Given the description of an element on the screen output the (x, y) to click on. 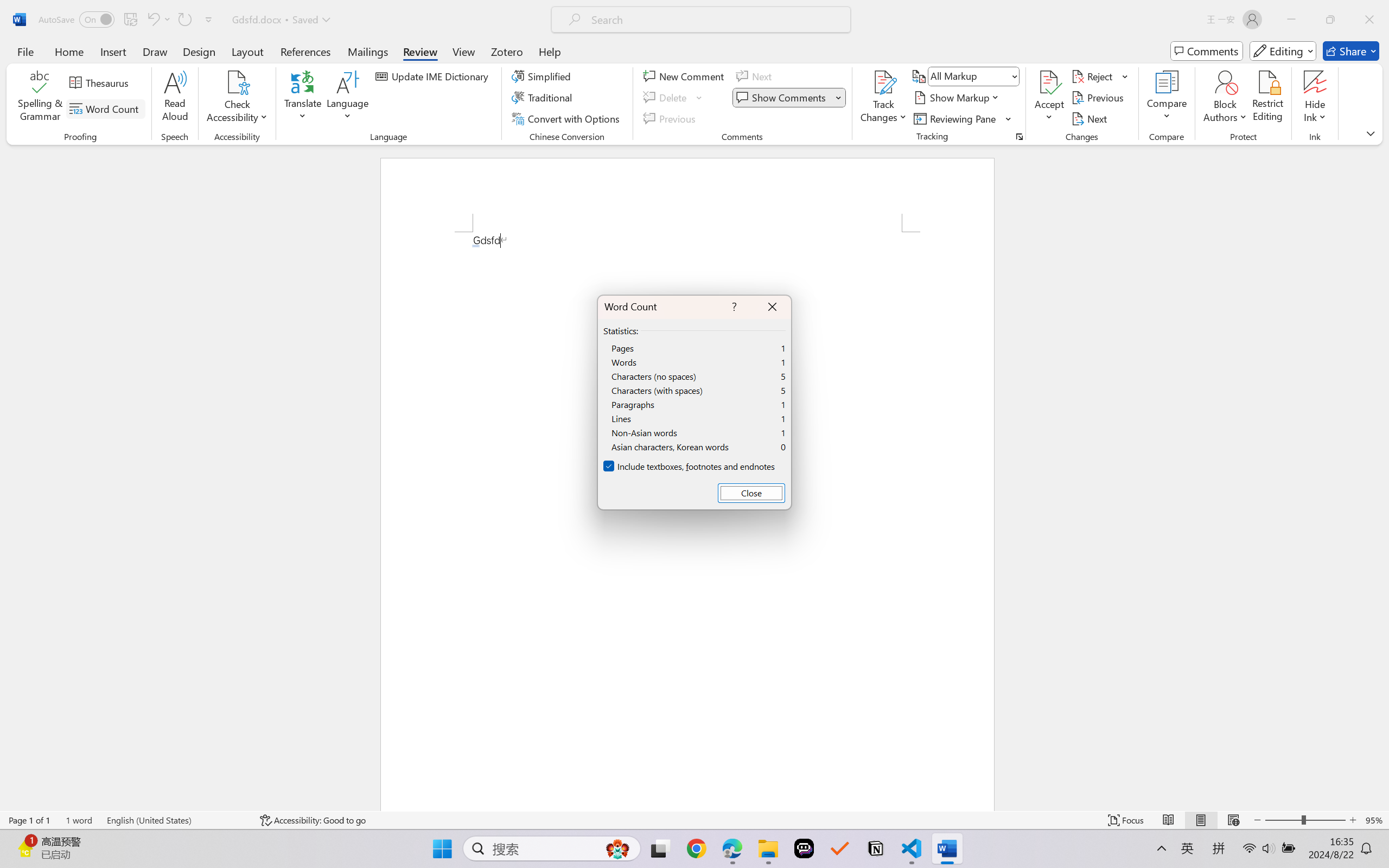
Show Comments (782, 97)
Update IME Dictionary... (433, 75)
Reject and Move to Next (1093, 75)
Check Accessibility (237, 81)
Include textboxes, footnotes and endnotes (689, 466)
